Given the description of an element on the screen output the (x, y) to click on. 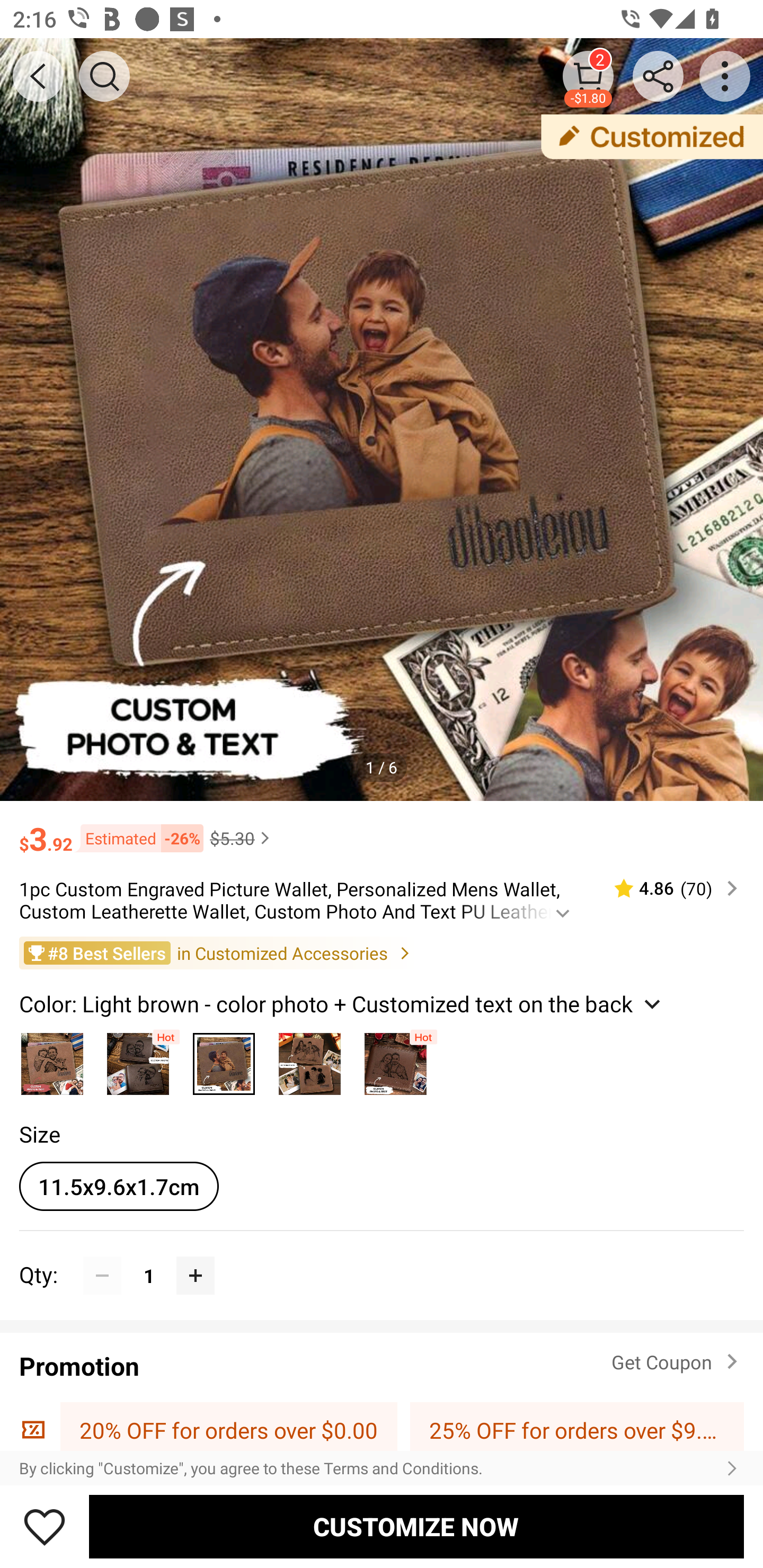
PHOTOS 1 / 6 (381, 419)
BACK (38, 75)
2 -$1.80 (588, 75)
1 / 6 (381, 766)
$3.92 Estimated -26% $5.30 (381, 830)
Estimated -26% (137, 838)
$5.30 (241, 837)
4.86 (70) (667, 887)
#8 Best Sellers in Customized Accessories (381, 952)
Brown - front photo + back photo (138, 1059)
Light brown - sketch photo + back photo (309, 1059)
Brown-front photo+Customized text on the back (395, 1059)
Size (39, 1134)
11.5x9.6x1.7cm 11.5x9.6x1.7cmselected option (118, 1185)
Qty: 1 (381, 1255)
CUSTOMIZE NOW (416, 1526)
Save (44, 1526)
